Given the description of an element on the screen output the (x, y) to click on. 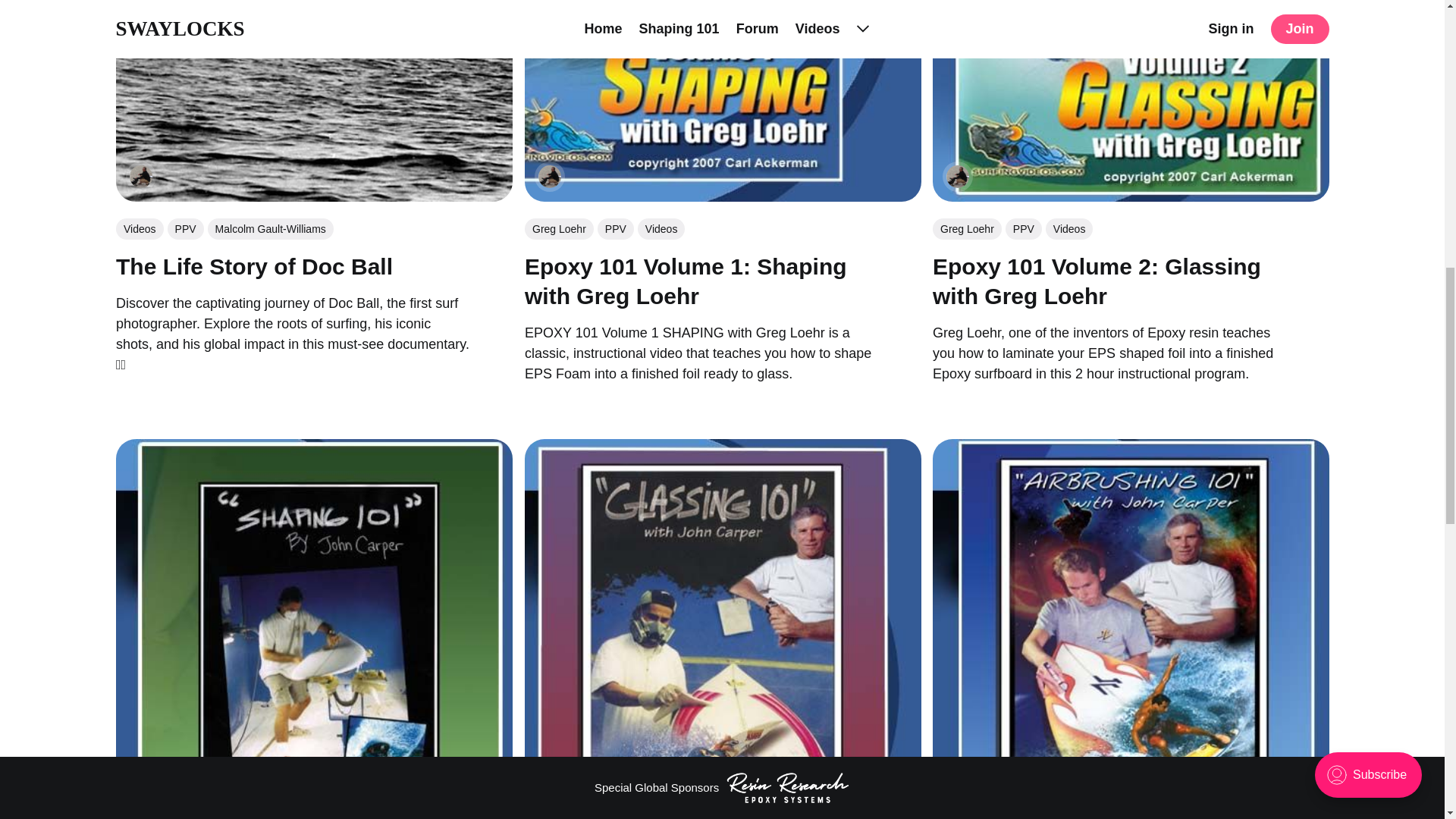
PPV (614, 228)
Epoxy 101 Volume 1: Shaping with Greg Loehr (684, 280)
PPV (185, 228)
PPV (1024, 228)
Videos (1069, 228)
Malcolm Gault-Williams (269, 228)
Carl Ackerman (548, 176)
Greg Loehr (967, 228)
Carl Ackerman (140, 176)
The Life Story of Doc Ball (253, 265)
